Given the description of an element on the screen output the (x, y) to click on. 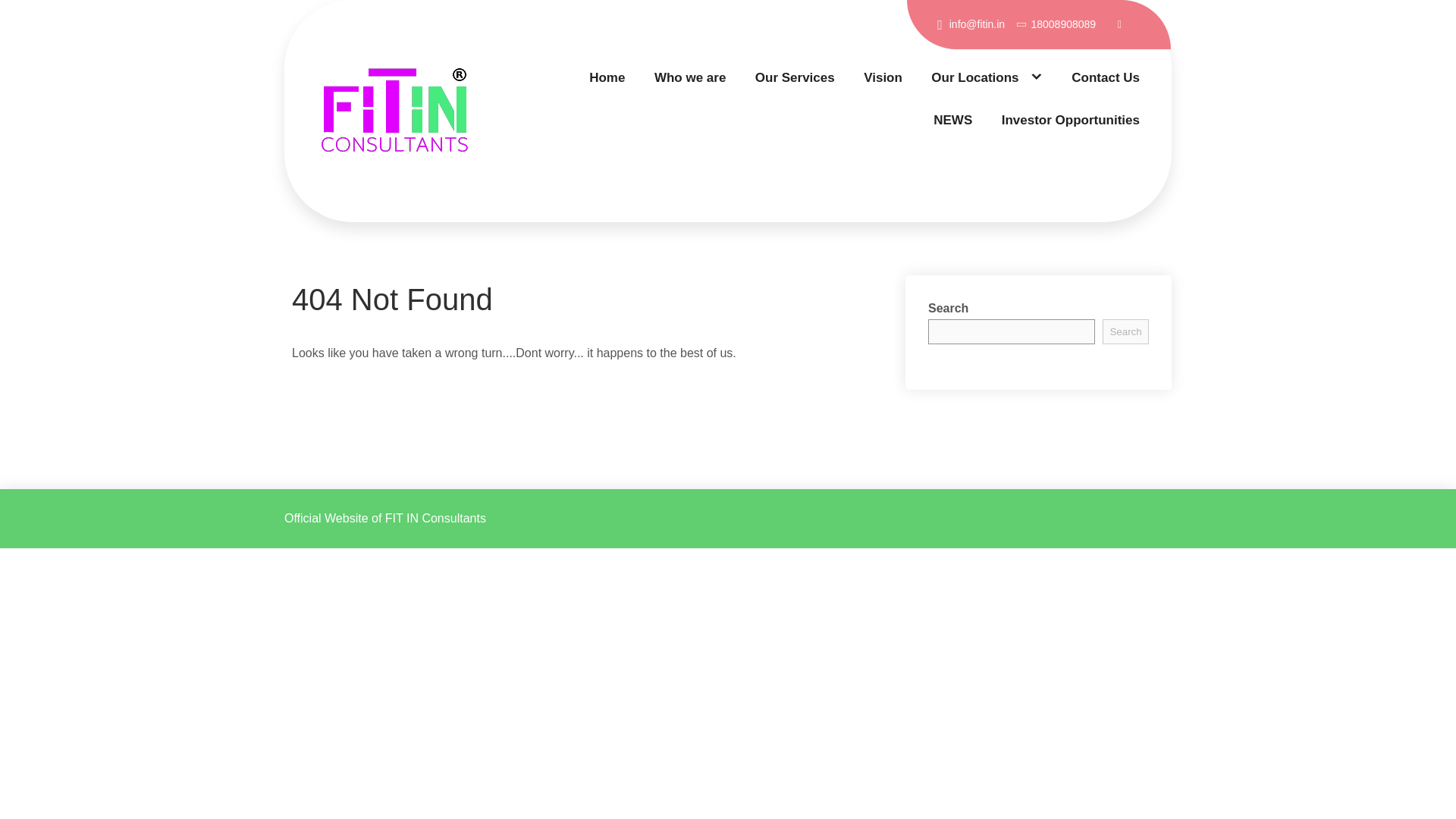
Our Services (794, 77)
Our Locations (986, 77)
Vision (882, 77)
Contact Us (1105, 77)
NEWS (952, 120)
Investor Opportunities (1070, 120)
Who we are (689, 77)
Search (1125, 331)
Home (606, 77)
FIT IN CONSULTANTS (412, 220)
